Given the description of an element on the screen output the (x, y) to click on. 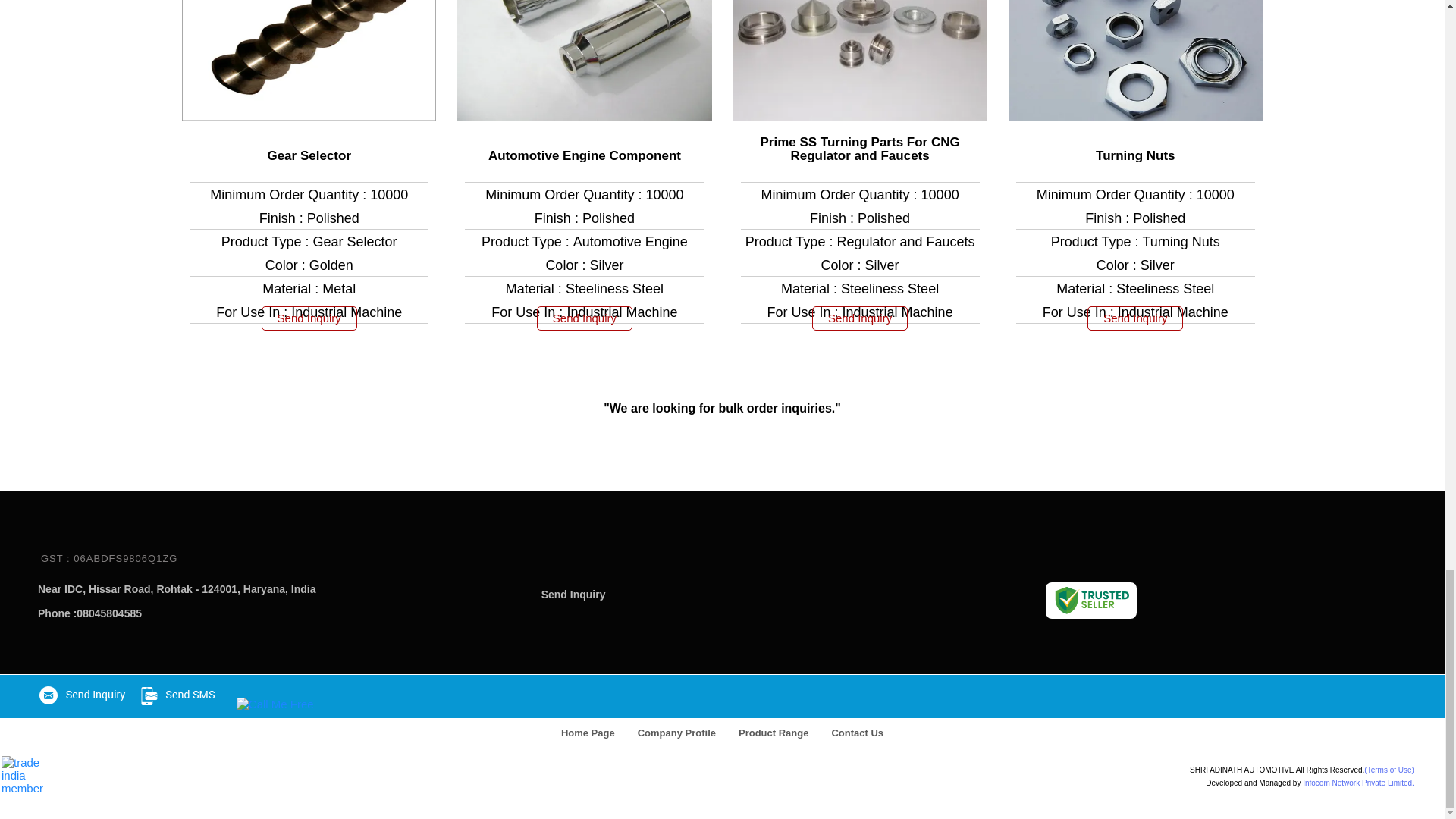
Gear Selector (308, 155)
